Given the description of an element on the screen output the (x, y) to click on. 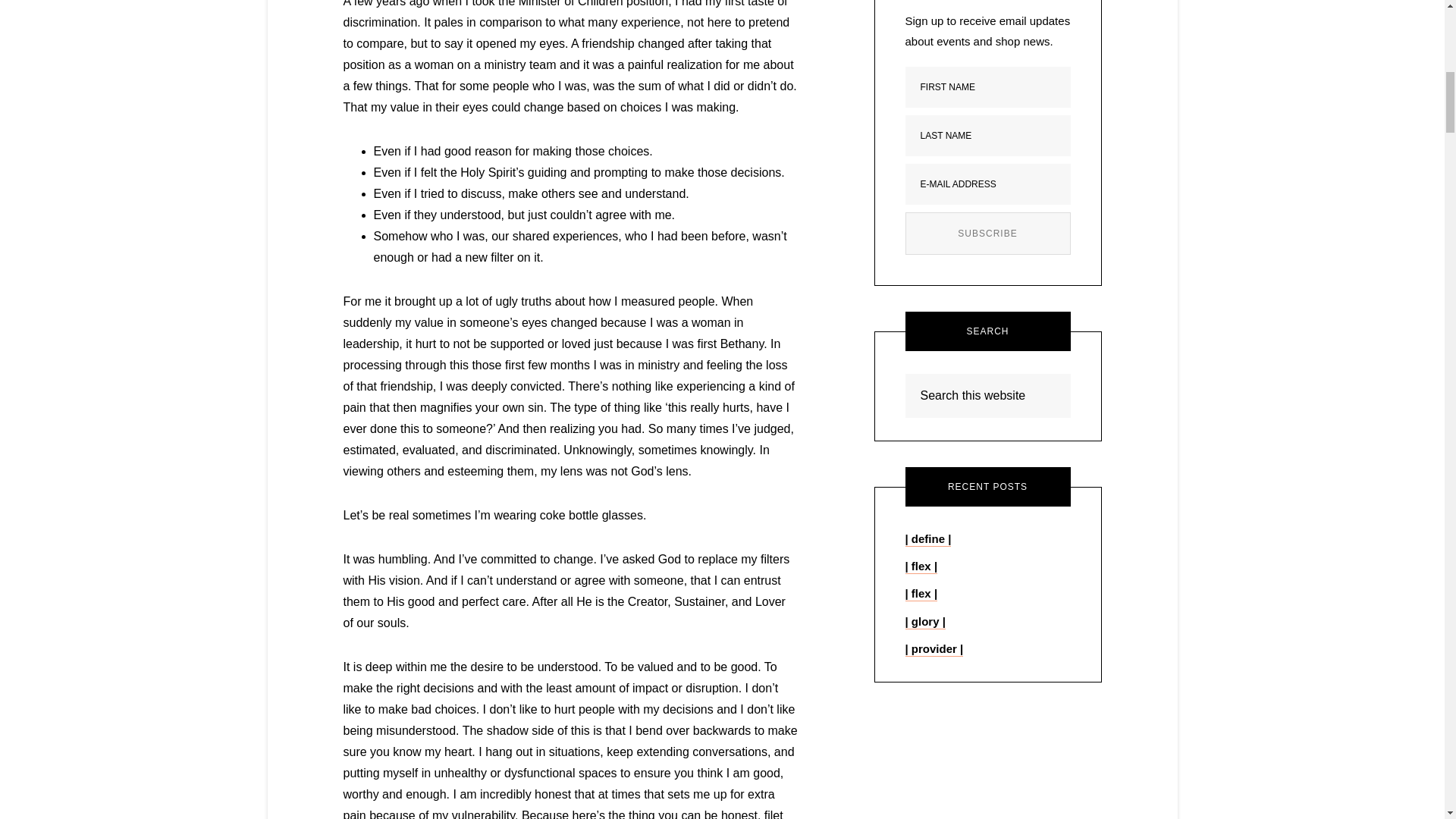
Subscribe (987, 233)
